Given the description of an element on the screen output the (x, y) to click on. 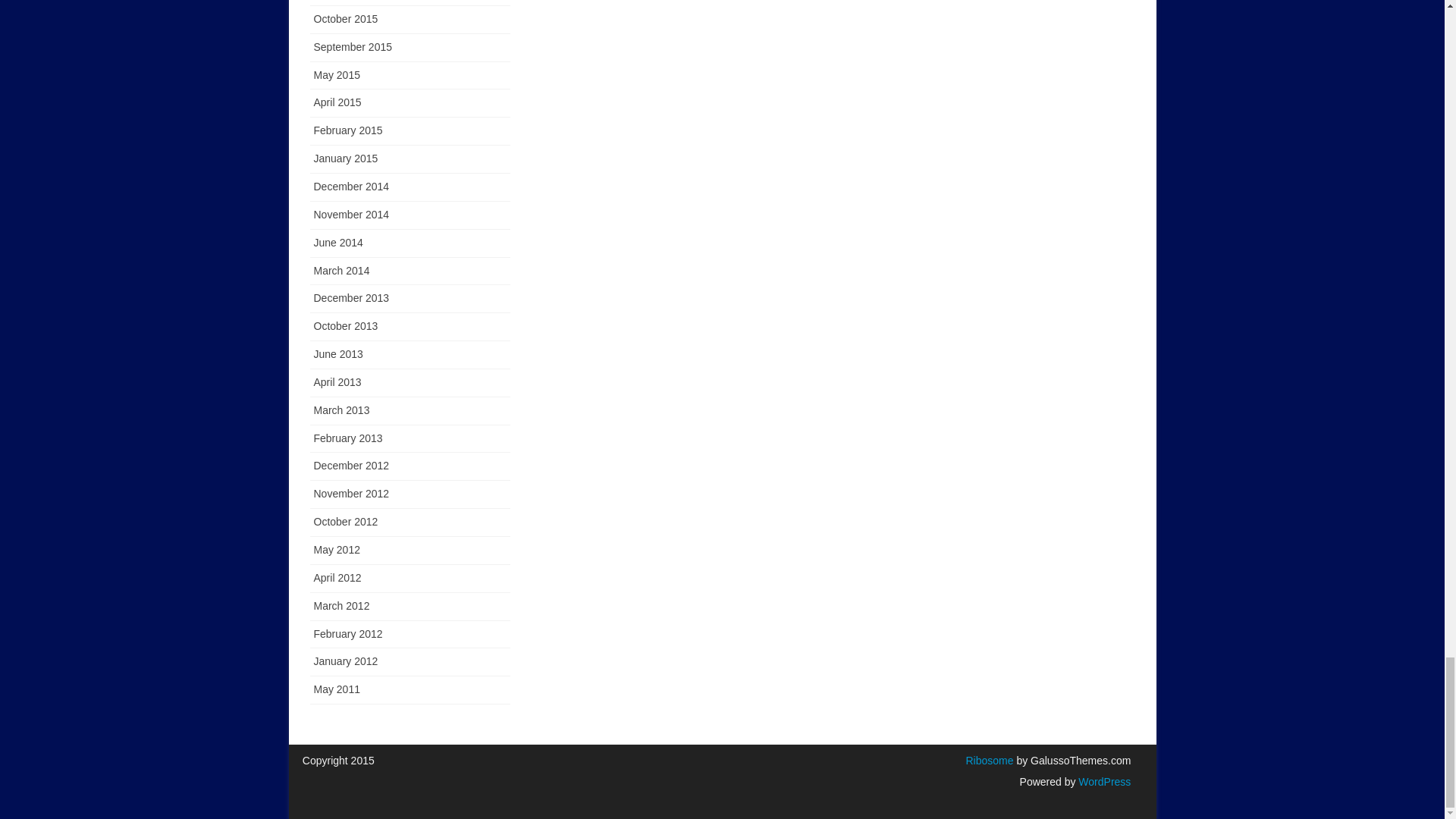
Semantic Personal Publishing Platform (1103, 781)
